Given the description of an element on the screen output the (x, y) to click on. 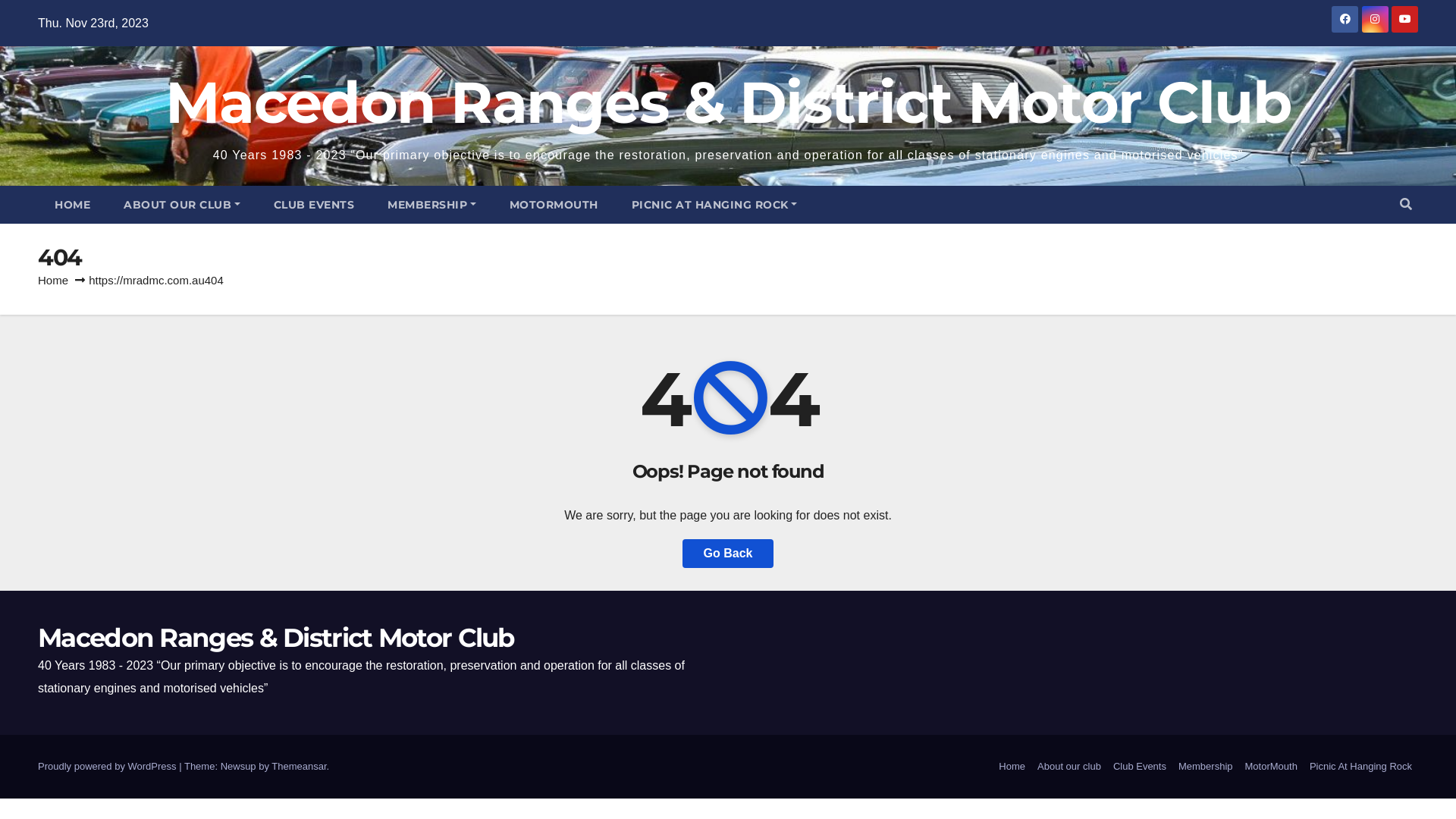
Home Element type: text (1011, 766)
PICNIC AT HANGING ROCK Element type: text (714, 204)
Themeansar Element type: text (298, 765)
About our club Element type: text (1069, 766)
MOTORMOUTH Element type: text (553, 204)
Go Back Element type: text (728, 553)
MEMBERSHIP Element type: text (431, 204)
Macedon Ranges & District Motor Club Element type: text (275, 637)
Club Events Element type: text (1139, 766)
CLUB EVENTS Element type: text (314, 204)
HOME Element type: text (71, 204)
Home Element type: text (52, 279)
ABOUT OUR CLUB Element type: text (181, 204)
Picnic At Hanging Rock Element type: text (1360, 766)
Proudly powered by WordPress Element type: text (107, 765)
Membership Element type: text (1205, 766)
MotorMouth Element type: text (1271, 766)
Macedon Ranges & District Motor Club Element type: text (727, 101)
